Given the description of an element on the screen output the (x, y) to click on. 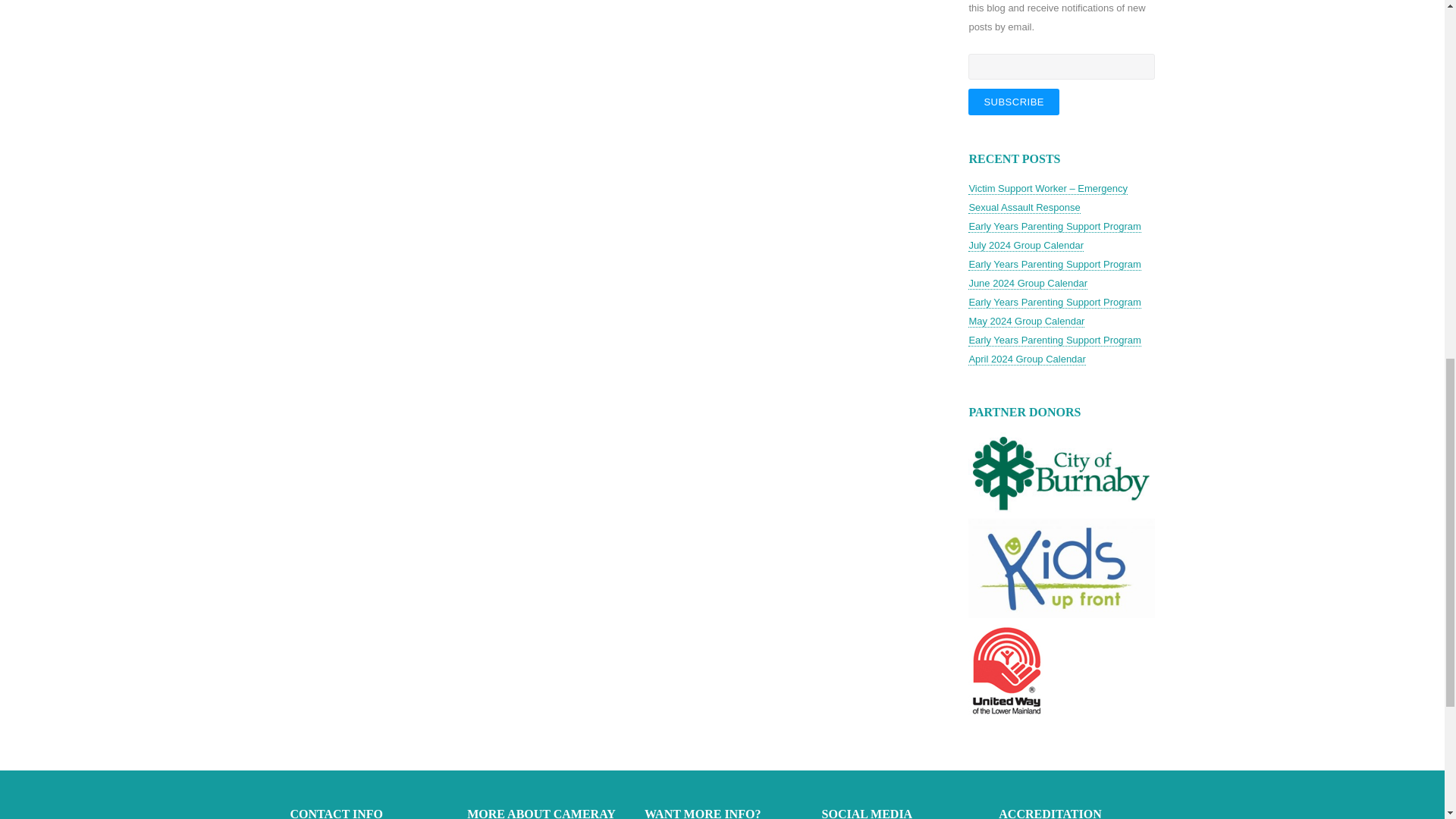
SUBSCRIBE (1013, 101)
